Given the description of an element on the screen output the (x, y) to click on. 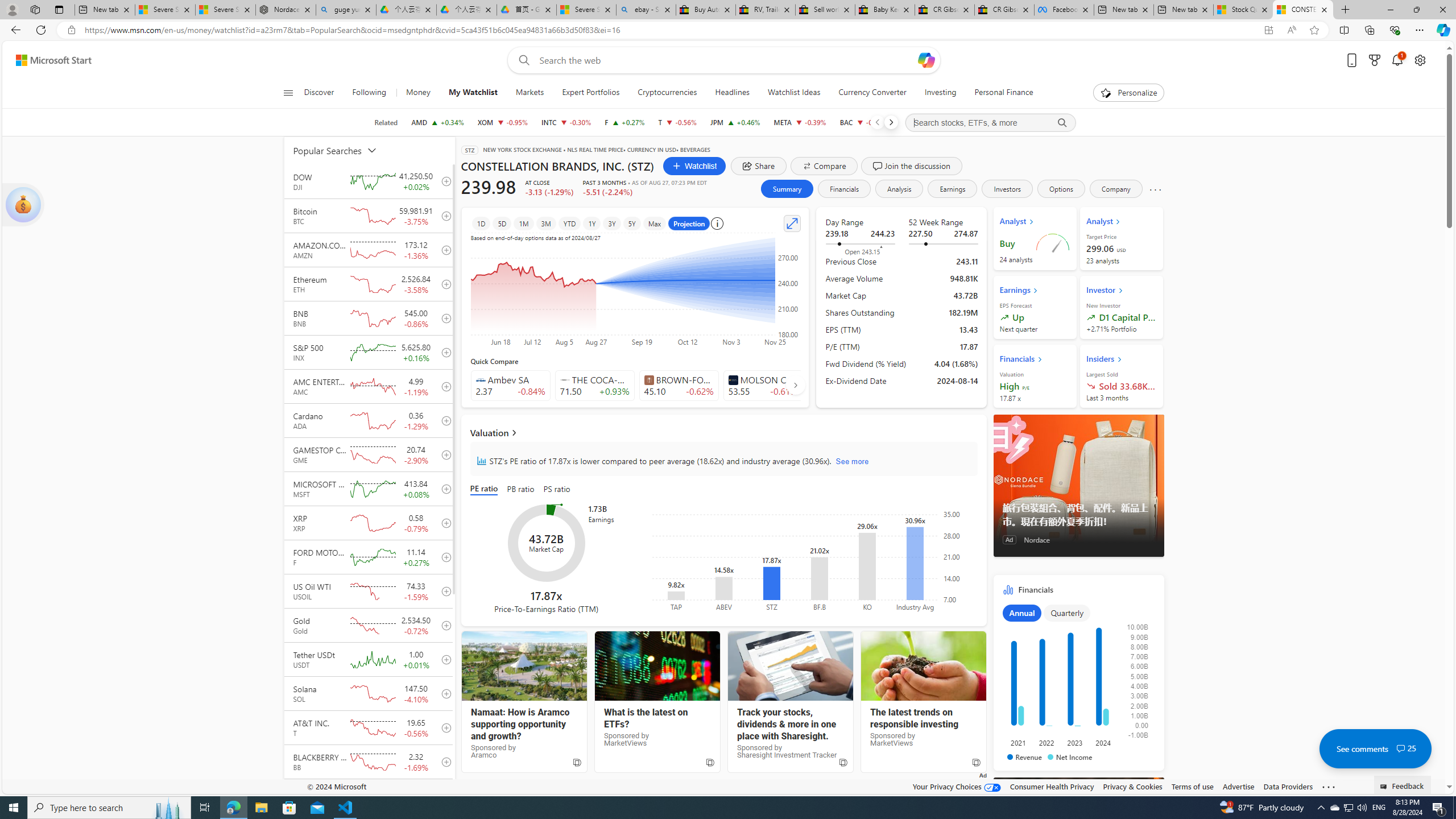
3M (545, 223)
1D (480, 223)
Projection (689, 223)
Financials (1077, 675)
1M (523, 223)
Previous (876, 122)
Next (890, 122)
Watchlist Ideas (793, 92)
Currency Converter (872, 92)
